Given the description of an element on the screen output the (x, y) to click on. 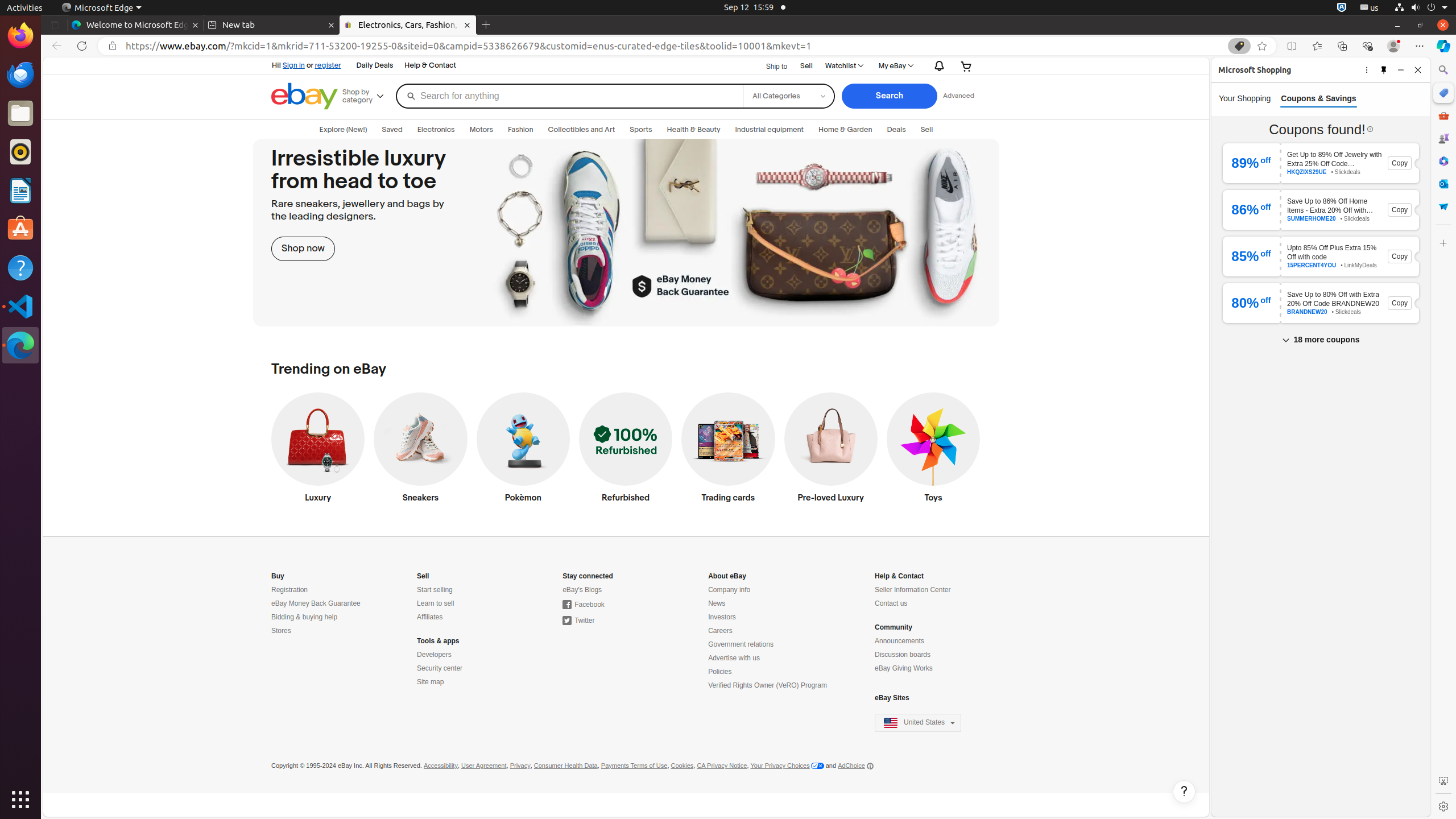
 18 more coupons of Coupons found Element type: push-button (1320, 339)
Privacy Element type: link (519, 765)
Bidding & buying help Element type: link (304, 617)
Discussion boards Element type: link (902, 654)
Settings and more (Alt+F) Element type: push-button (1419, 45)
